Given the description of an element on the screen output the (x, y) to click on. 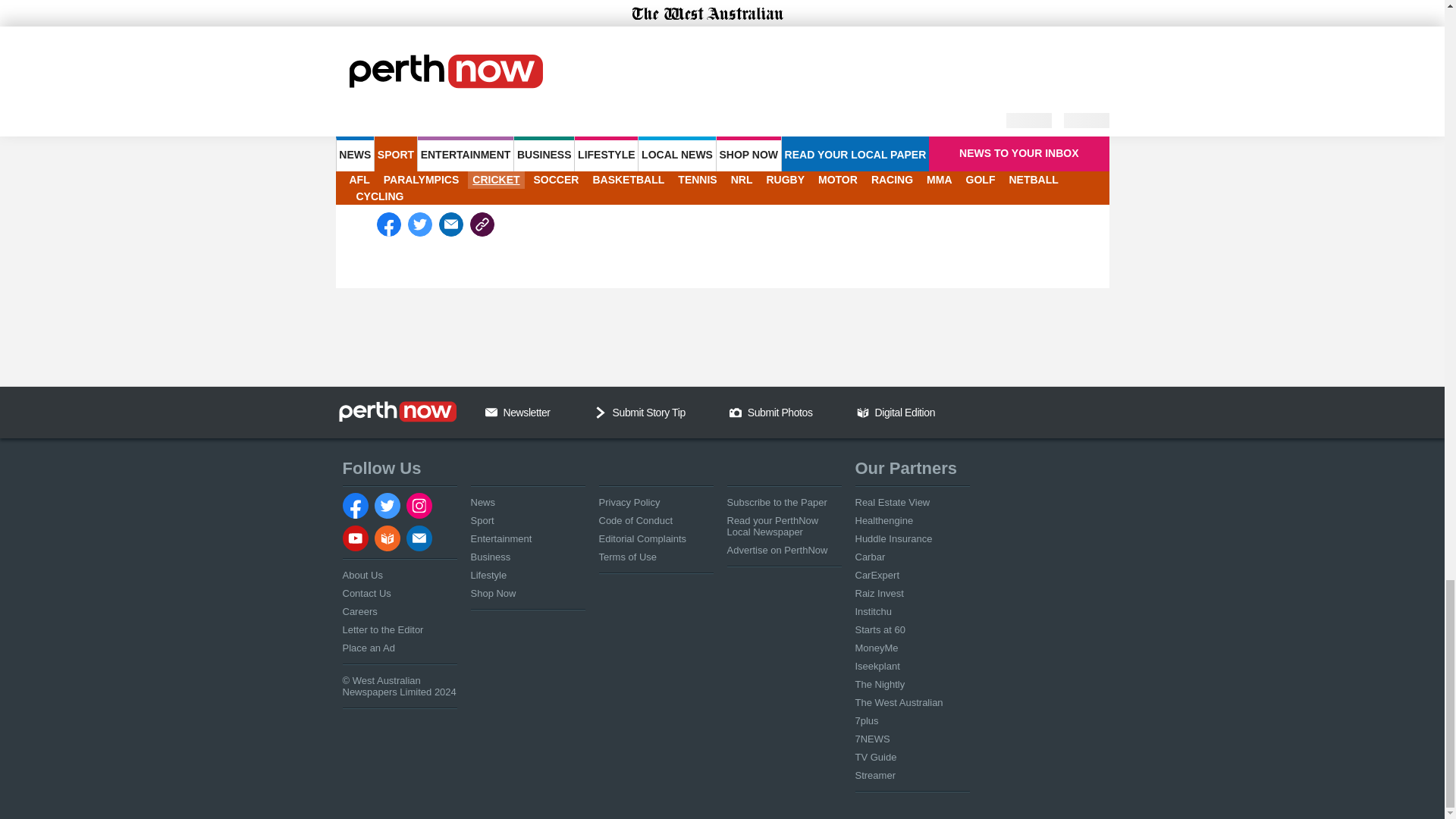
Camera Icon (735, 412)
Chevron Down Icon (600, 412)
Email Us (490, 412)
